Given the description of an element on the screen output the (x, y) to click on. 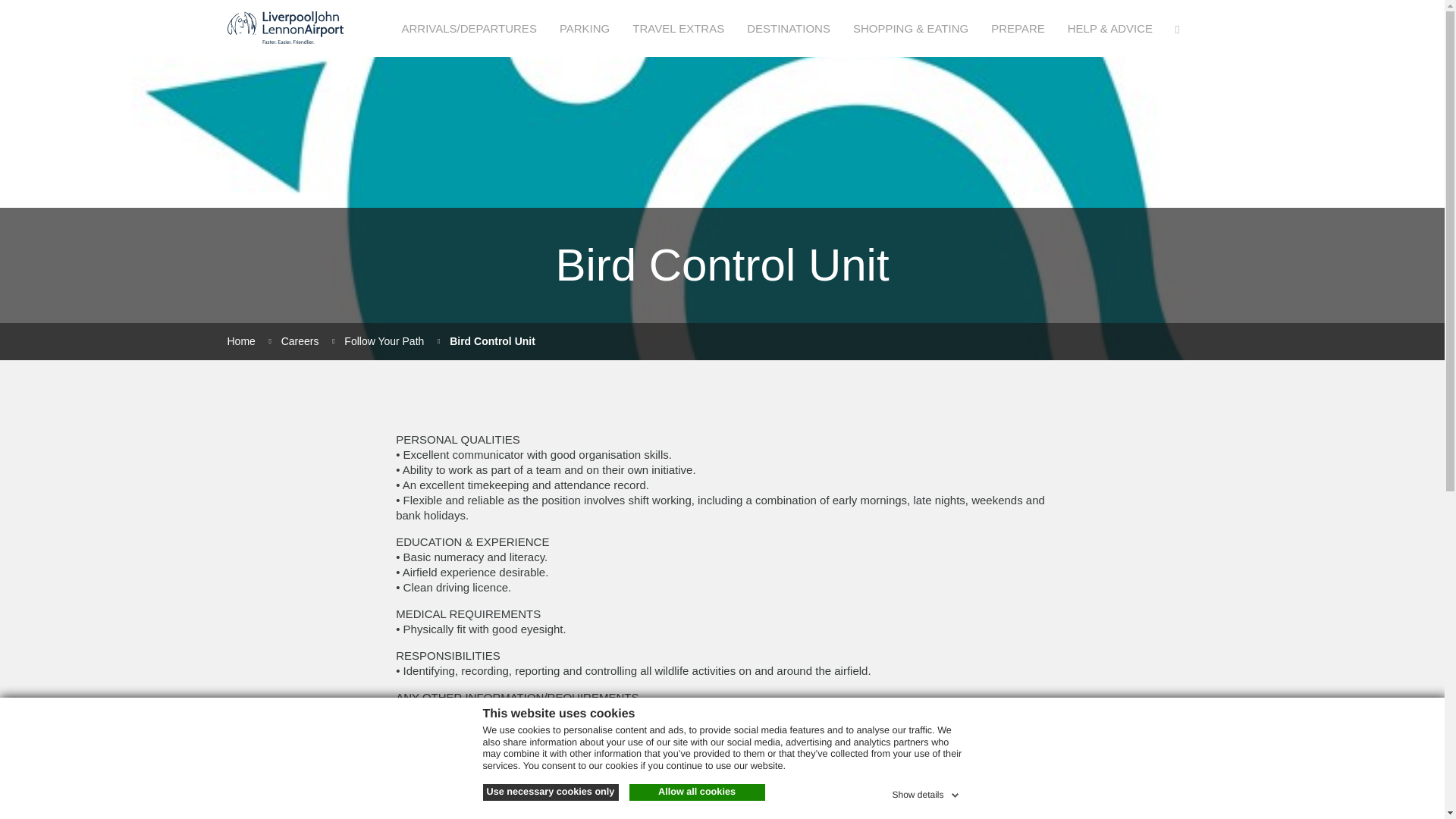
Use necessary cookies only (549, 791)
Allow all cookies (696, 791)
Show details (925, 791)
